Given the description of an element on the screen output the (x, y) to click on. 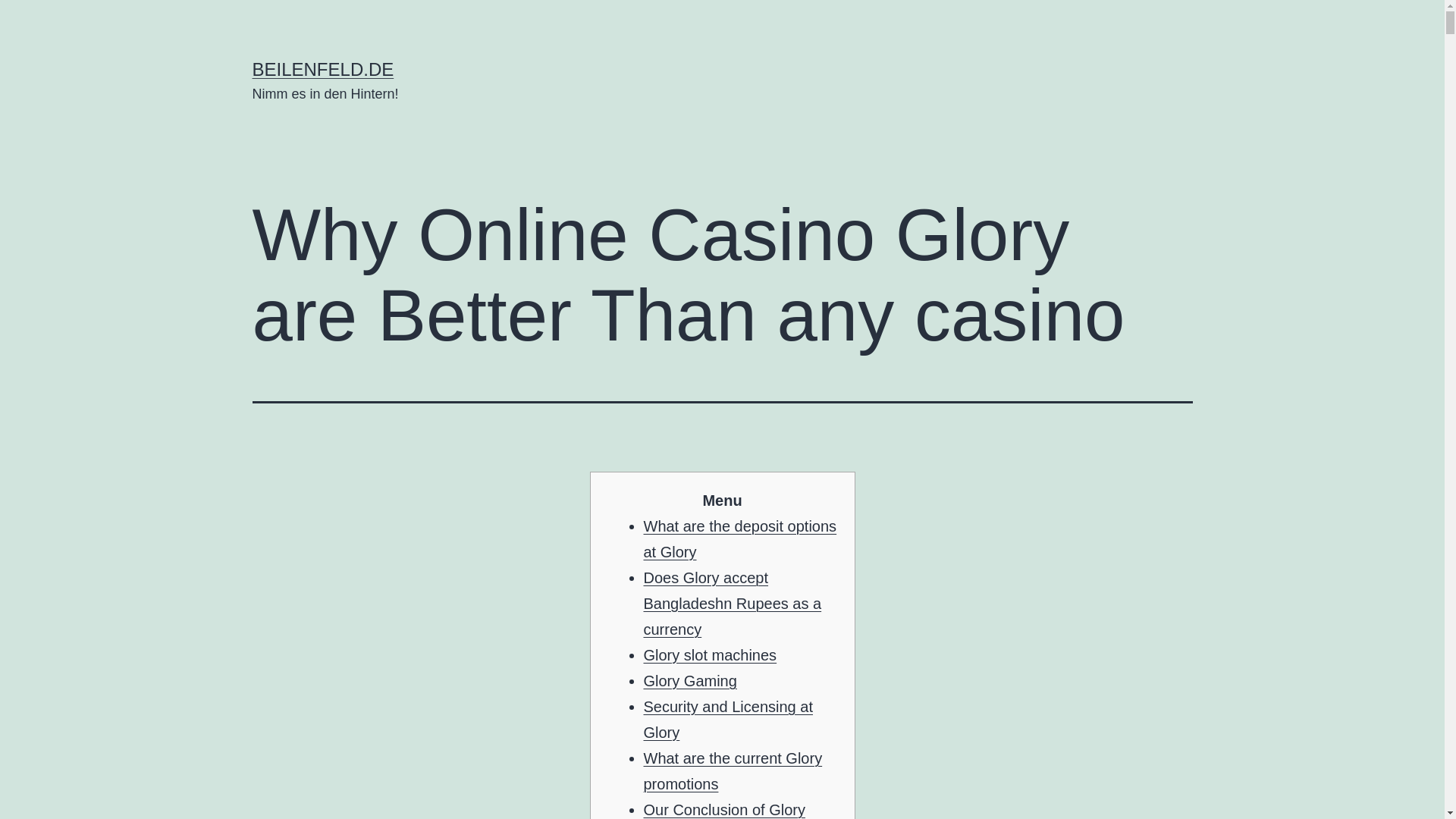
Does Glory accept Bangladeshn Rupees as a currency (732, 603)
Glory Gaming (689, 680)
What are the deposit options at Glory (739, 538)
BEILENFELD.DE (322, 68)
Glory slot machines (709, 655)
Security and Licensing at Glory (727, 719)
What are the current Glory promotions (732, 771)
Our Conclusion of Glory Review (724, 810)
